Given the description of an element on the screen output the (x, y) to click on. 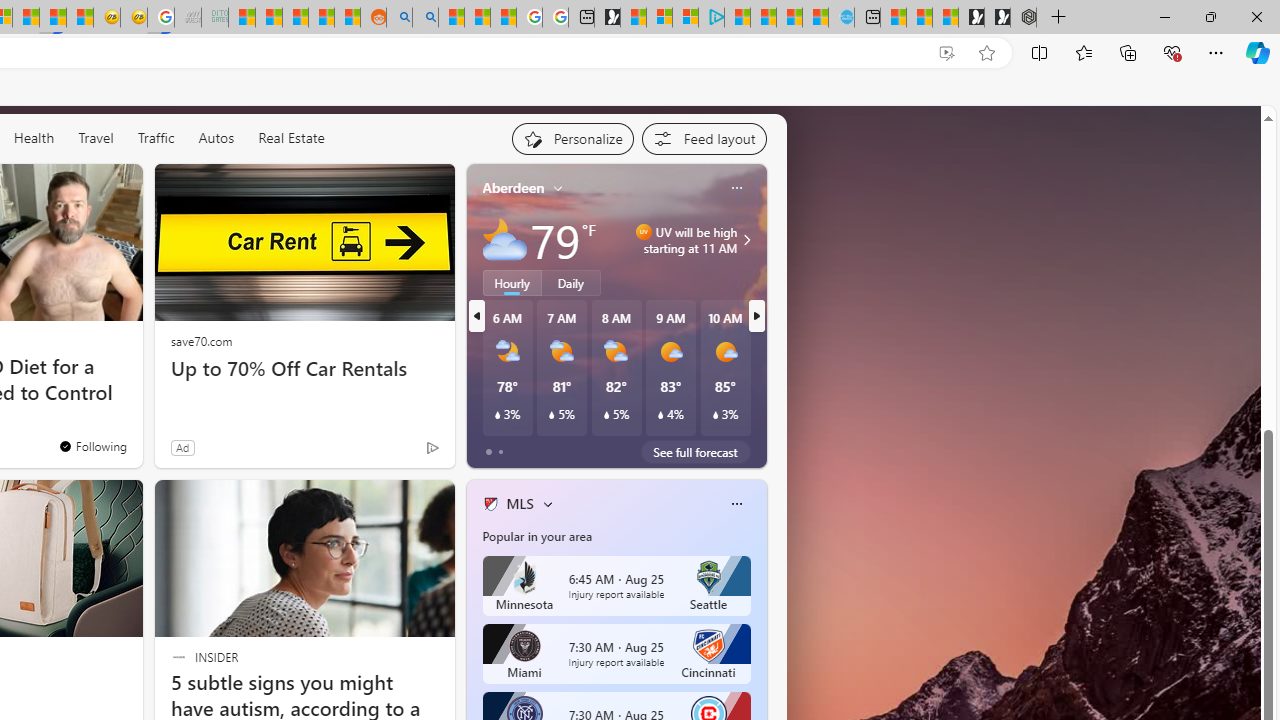
Traffic (155, 138)
Health (34, 137)
Student Loan Update: Forgiveness Program Ends This Month (321, 17)
My location (558, 187)
next (756, 315)
